Given the description of an element on the screen output the (x, y) to click on. 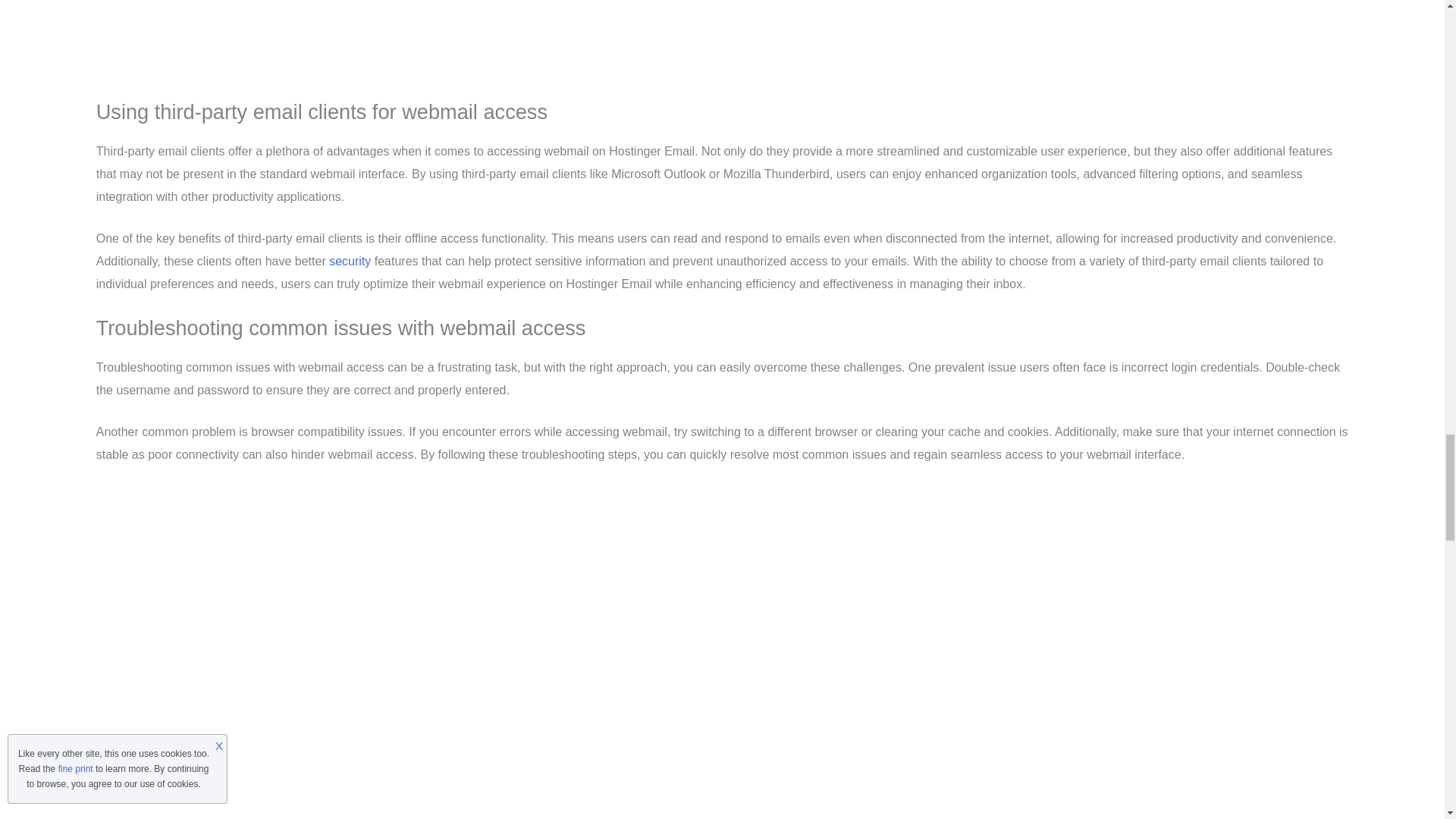
security (350, 260)
